Given the description of an element on the screen output the (x, y) to click on. 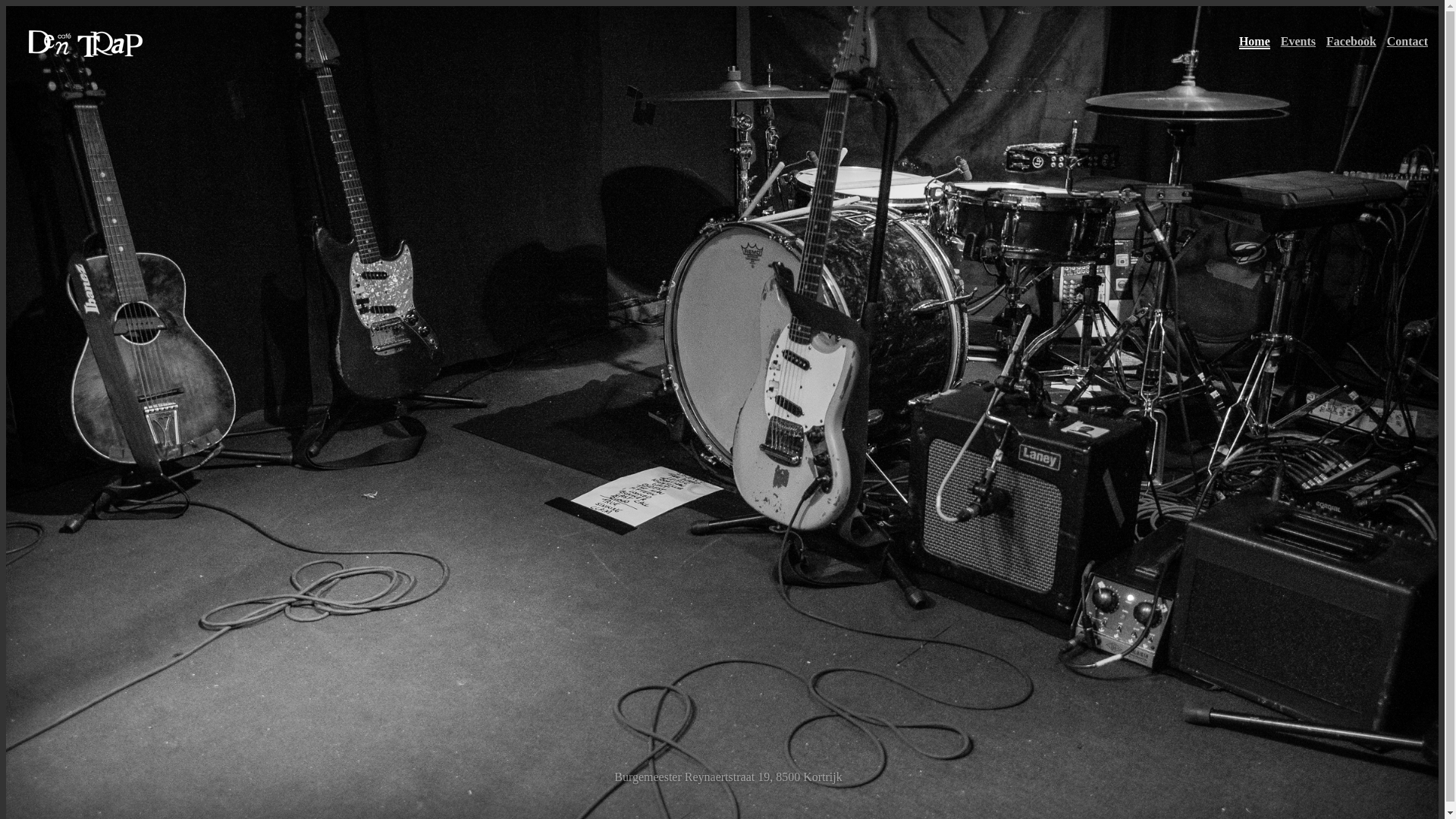
Facebook Element type: text (1351, 41)
Events Element type: text (1297, 41)
Contact Element type: text (1406, 41)
Home Element type: text (1254, 41)
